Given the description of an element on the screen output the (x, y) to click on. 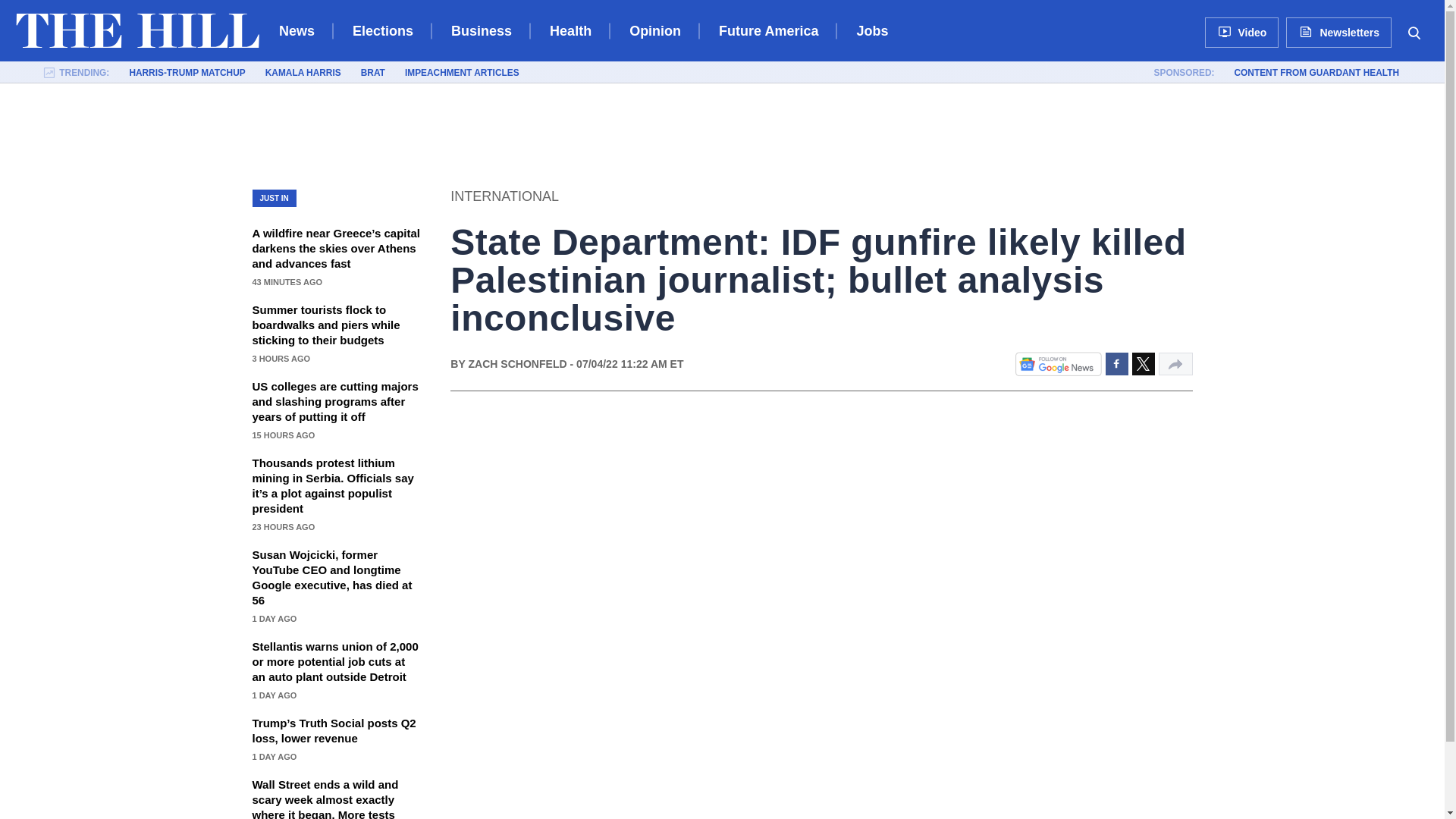
News (296, 30)
Search (1414, 31)
Business (481, 30)
International (504, 196)
Elections (382, 30)
